Given the description of an element on the screen output the (x, y) to click on. 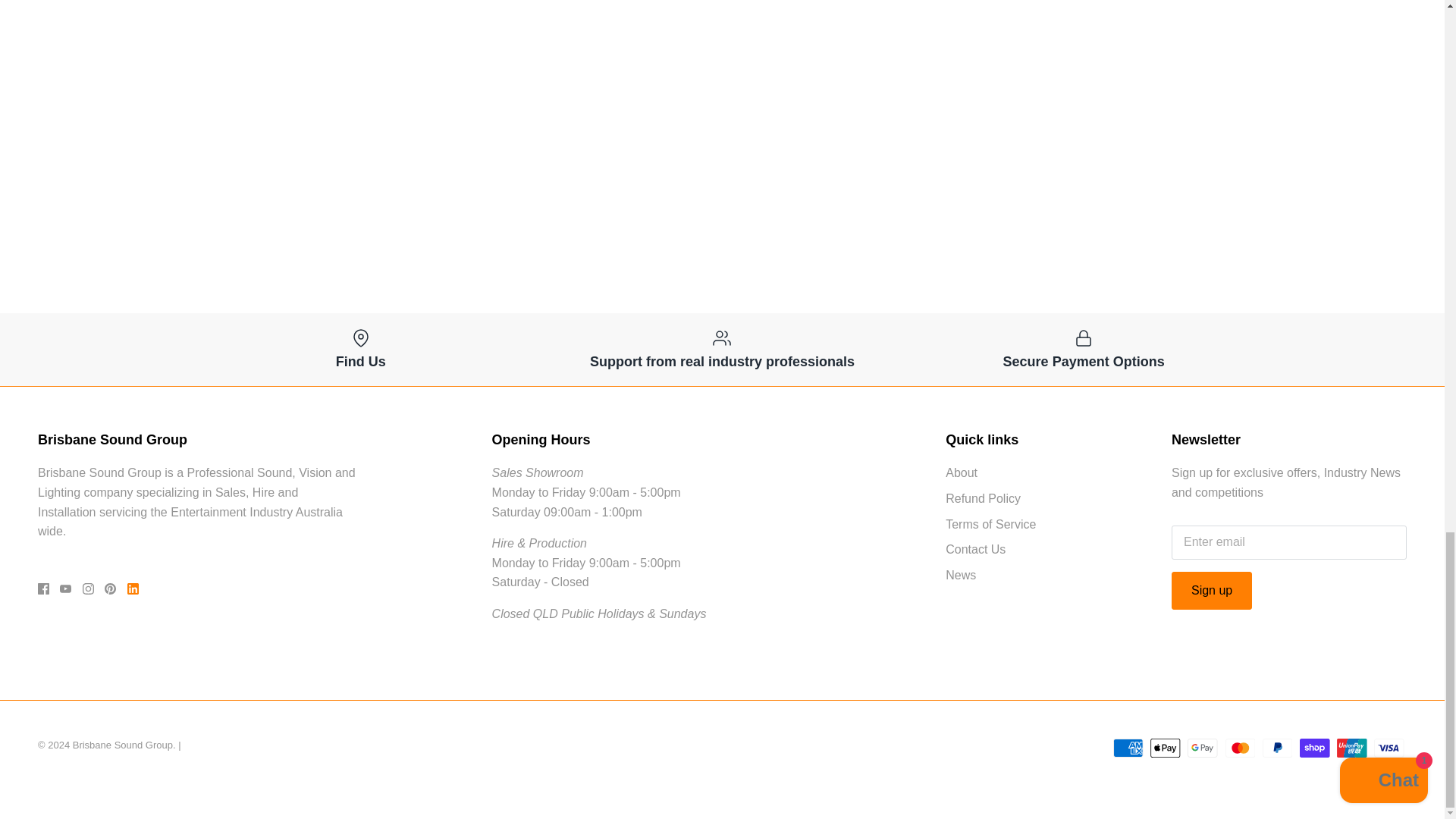
Facebook (43, 588)
Union Pay (1351, 747)
Apple Pay (1165, 747)
Pinterest (110, 588)
PayPal (1277, 747)
American Express (1127, 747)
Youtube (65, 588)
Instagram (88, 588)
Shop Pay (1314, 747)
Mastercard (1240, 747)
Google Pay (1202, 747)
